Given the description of an element on the screen output the (x, y) to click on. 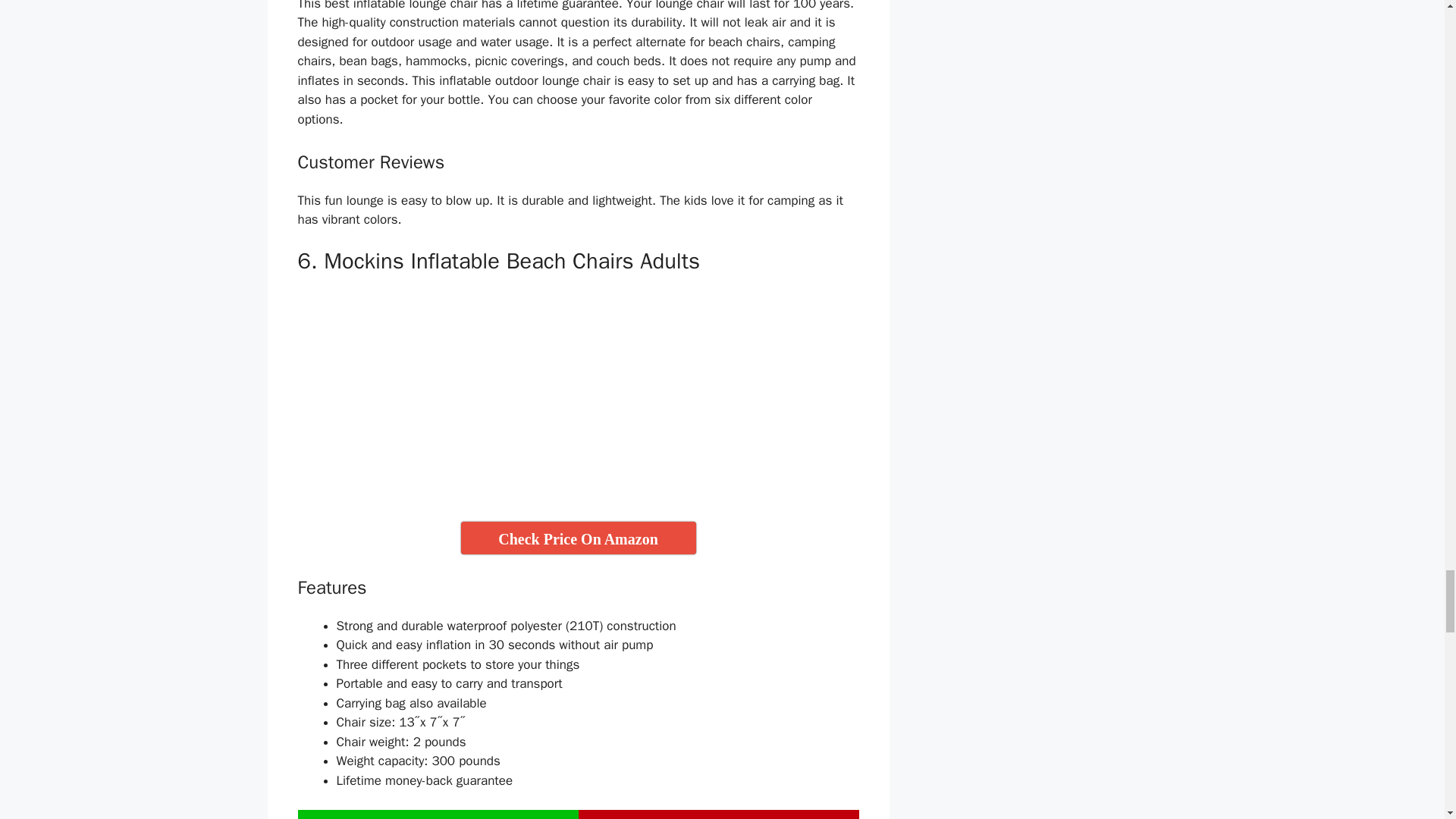
Check Price On Amazon (578, 537)
